Given the description of an element on the screen output the (x, y) to click on. 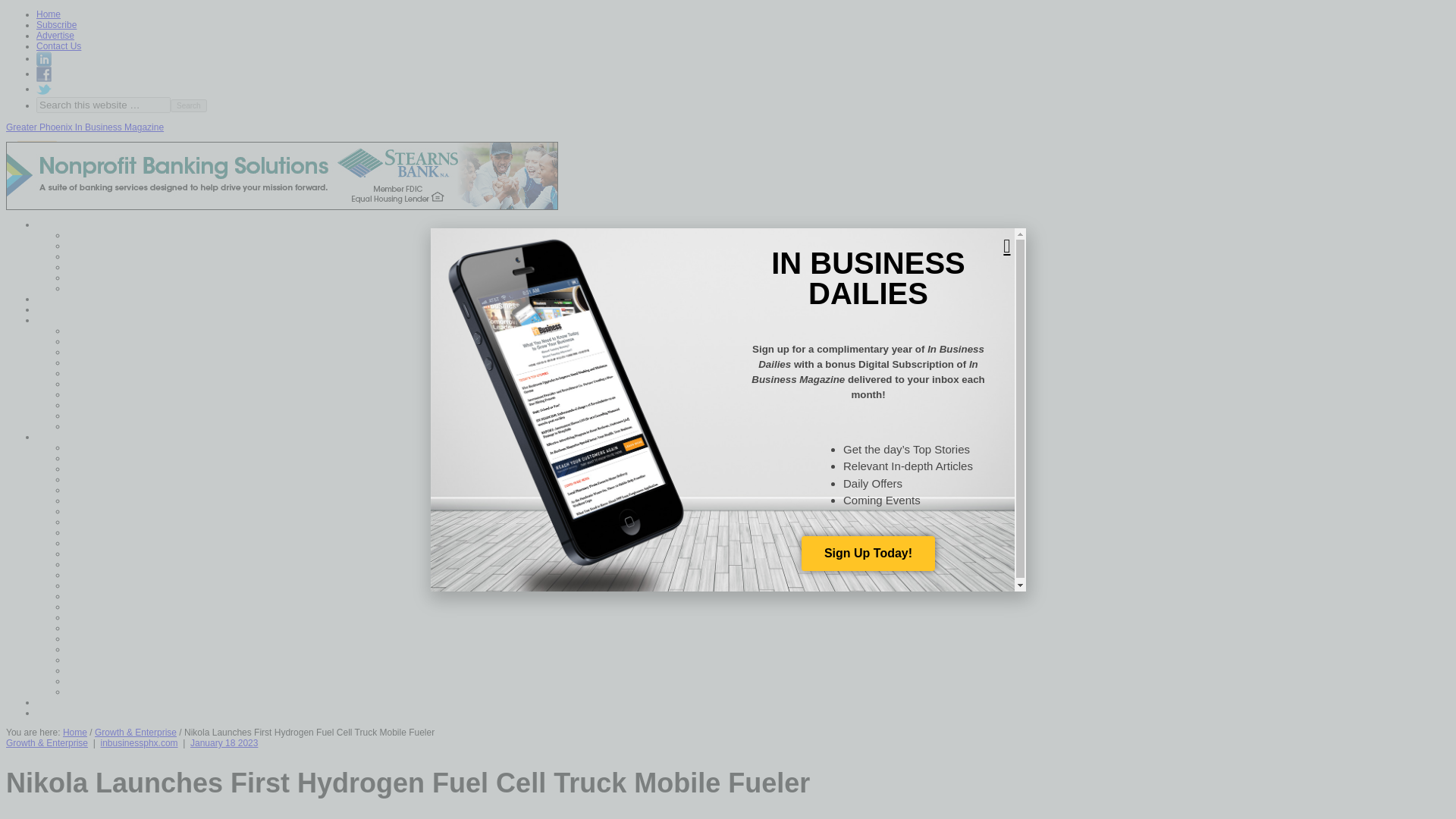
Greater Phoenix In Business Magazine (84, 127)
Featured Topics (91, 320)
By the Numbers (121, 532)
FEATURE (110, 447)
Subscribe (56, 24)
Assets (102, 489)
Past Issues (112, 288)
Home (48, 14)
Featured Topics (121, 245)
Home (71, 224)
SEE All TOPICS (122, 425)
Auto (98, 500)
Latest Issue (83, 309)
Departments (84, 436)
Contact Us (58, 45)
